Given the description of an element on the screen output the (x, y) to click on. 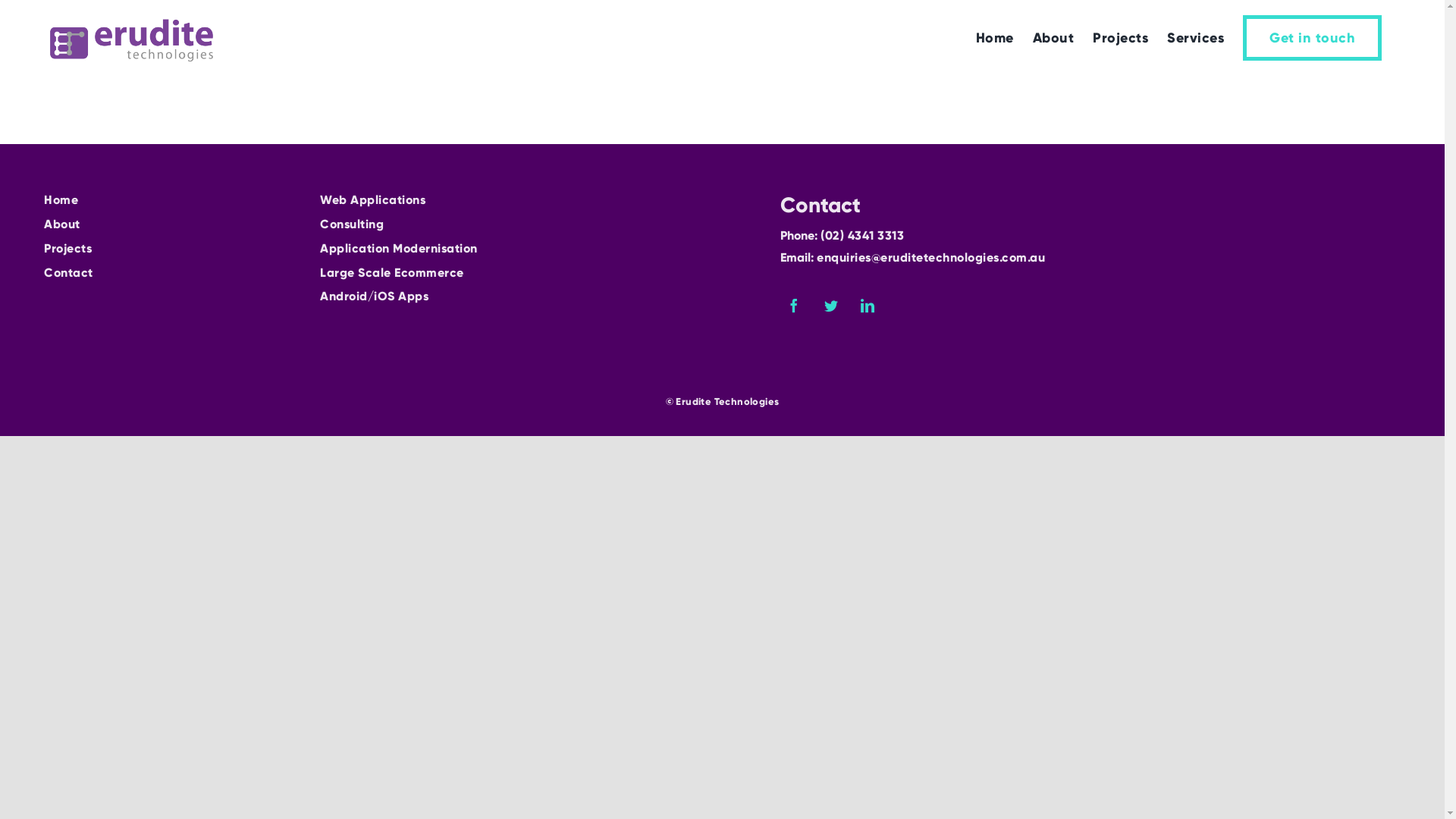
Contact Element type: text (169, 273)
Web Applications Element type: text (538, 200)
Home Element type: text (169, 200)
Projects Element type: text (1120, 37)
Application Modernisation Element type: text (538, 249)
Get in touch Element type: text (1311, 37)
About Element type: text (1053, 37)
Large Scale Ecommerce Element type: text (538, 273)
enquiries@eruditetechnologies.com.au Element type: text (930, 257)
Projects Element type: text (169, 249)
Android/iOS Apps Element type: text (538, 296)
Facebook Element type: hover (794, 305)
Consulting Element type: text (538, 224)
LinkedIn Element type: hover (867, 305)
Home Element type: text (994, 37)
Twitter Element type: hover (831, 305)
Services Element type: text (1195, 37)
About Element type: text (169, 224)
(02) 4341 3313 Element type: text (861, 235)
